Given the description of an element on the screen output the (x, y) to click on. 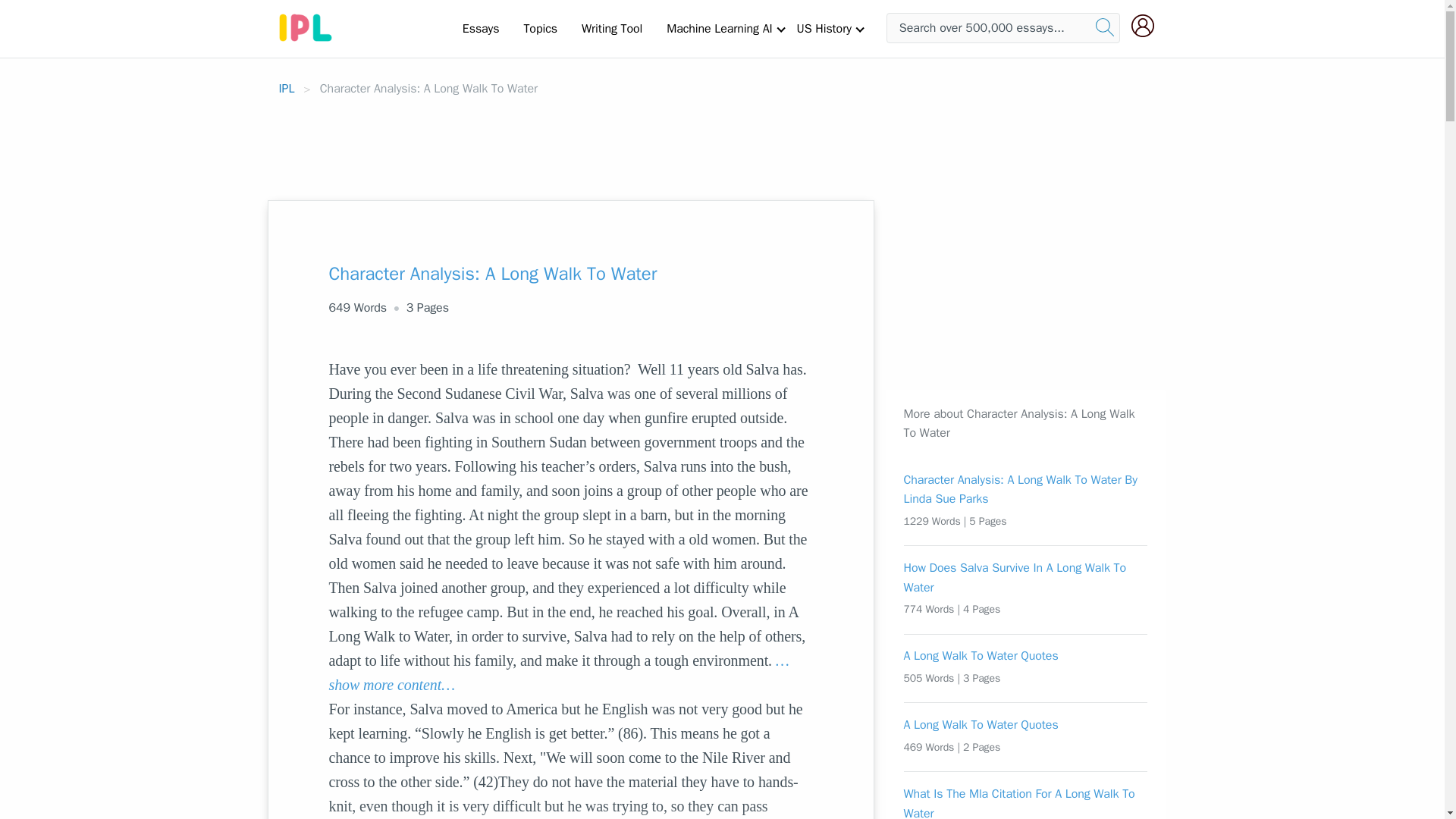
Topics (540, 28)
Writing Tool (611, 28)
Essays (480, 28)
US History (823, 28)
Machine Learning AI (718, 28)
IPL (287, 88)
